Given the description of an element on the screen output the (x, y) to click on. 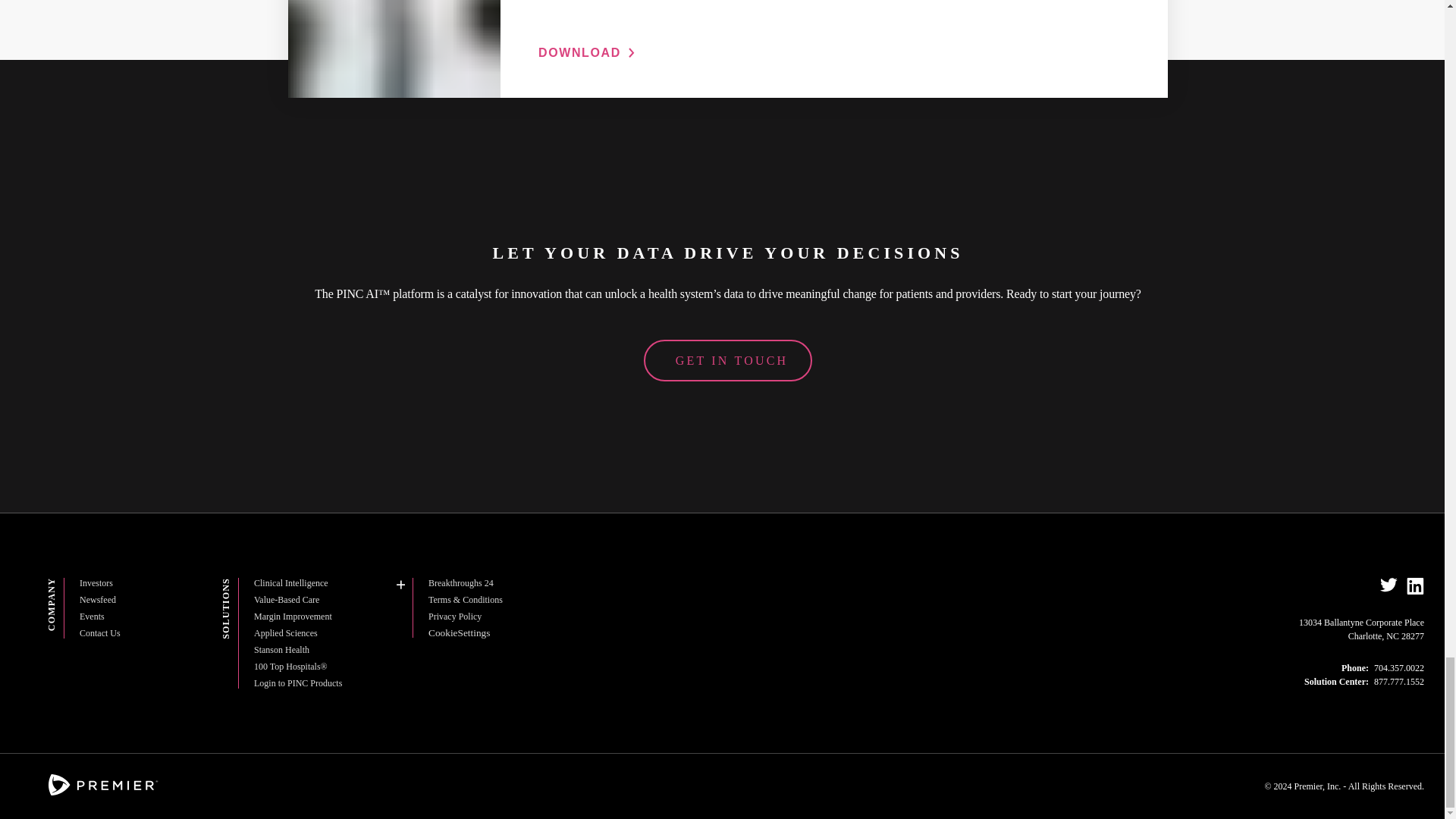
GET IN TOUCH (727, 360)
Breakthroughs 24 (460, 583)
Phone: 704.357.0022 (1381, 667)
Margin Improvement (292, 615)
Newsfeed (98, 599)
Solution Center: 877.777.1552 (1363, 681)
Stanson Health (280, 649)
Investors (96, 583)
Privacy Policy (454, 615)
Clinical Intelligence (291, 583)
Applied Sciences (285, 633)
CookieSettings (458, 633)
Login to PINC Products (297, 683)
Events (92, 615)
DOWNLOAD (586, 51)
